Given the description of an element on the screen output the (x, y) to click on. 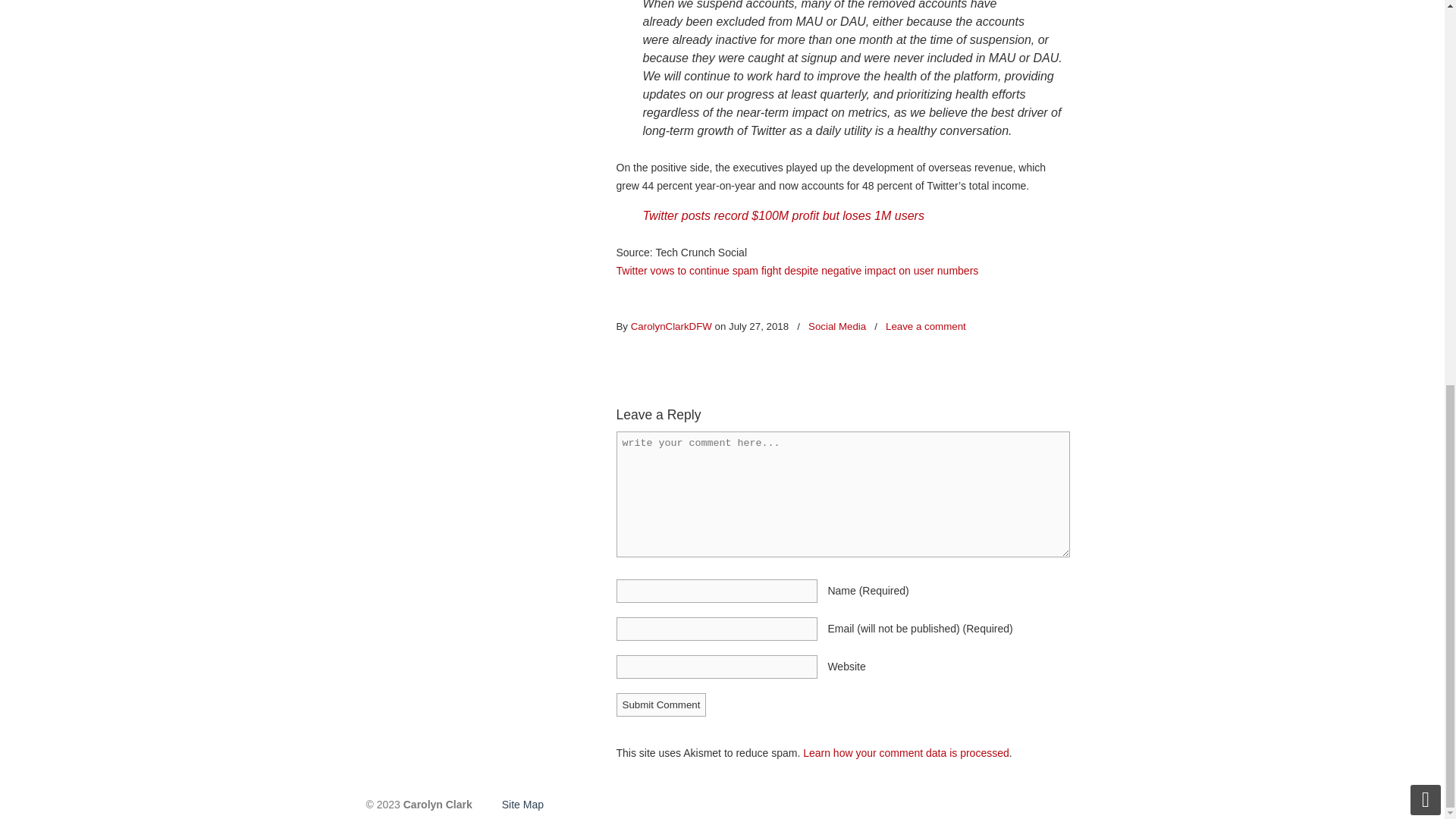
Learn how your comment data is processed (906, 752)
Submit Comment (660, 704)
Posts by CarolynClarkDFW (670, 326)
Leave a comment (925, 326)
CarolynClarkDFW (670, 326)
Social Media (837, 326)
Site Map (521, 804)
Submit Comment (660, 704)
